Given the description of an element on the screen output the (x, y) to click on. 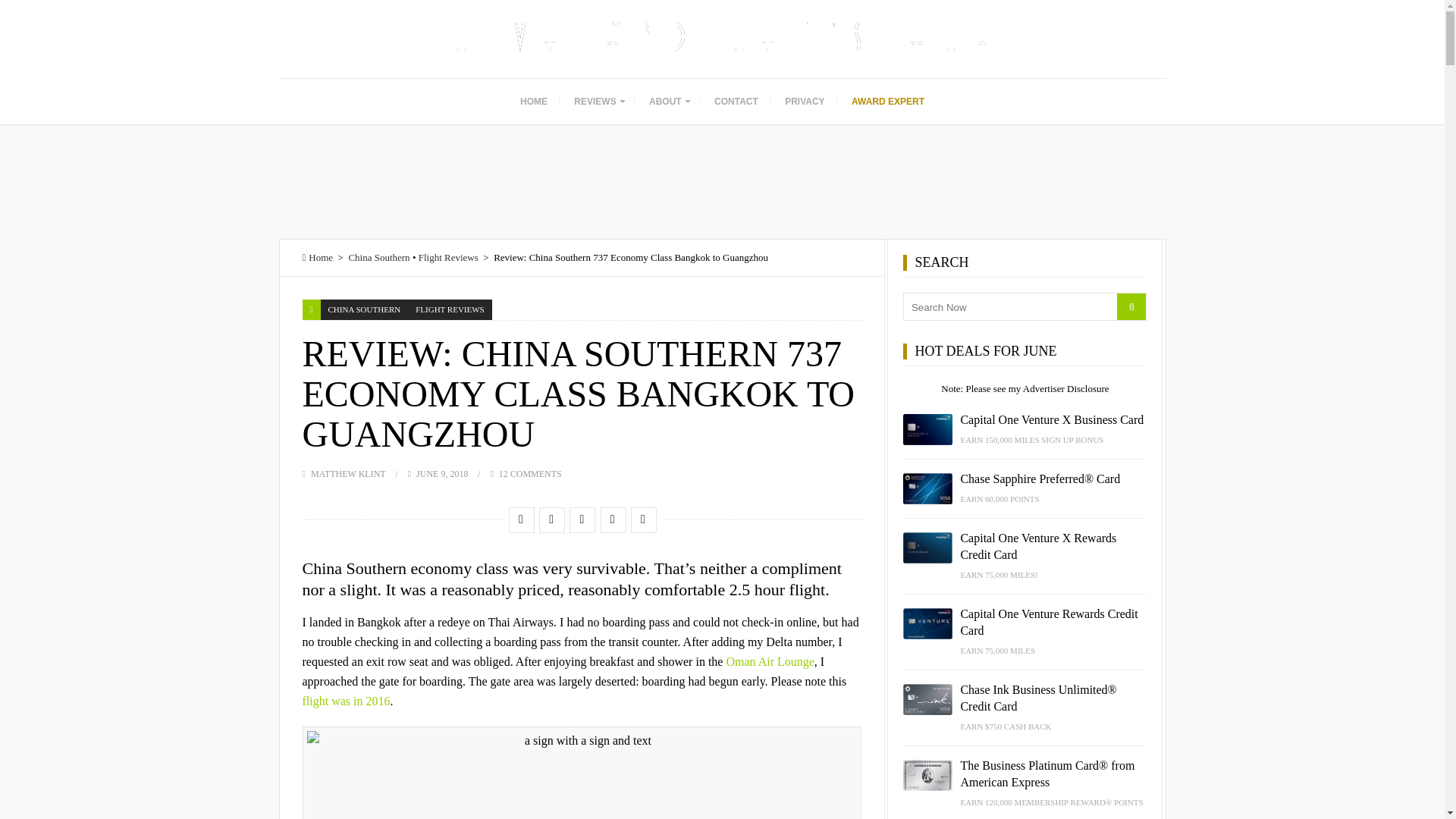
Share on Reddit (611, 518)
Oman Air Lounge (769, 661)
CHINA SOUTHERN (364, 309)
flight was in 2016 (345, 700)
Share on Twitter (550, 518)
REVIEWS (597, 101)
Home (317, 256)
PRIVACY (804, 101)
ABOUT (668, 101)
Share on StumbleUpon (581, 518)
Flight Reviews (449, 256)
MATTHEW KLINT (348, 473)
View all posts in Flight Reviews (449, 309)
Posts by Matthew Klint (348, 473)
Share on Tumblr (642, 518)
